Given the description of an element on the screen output the (x, y) to click on. 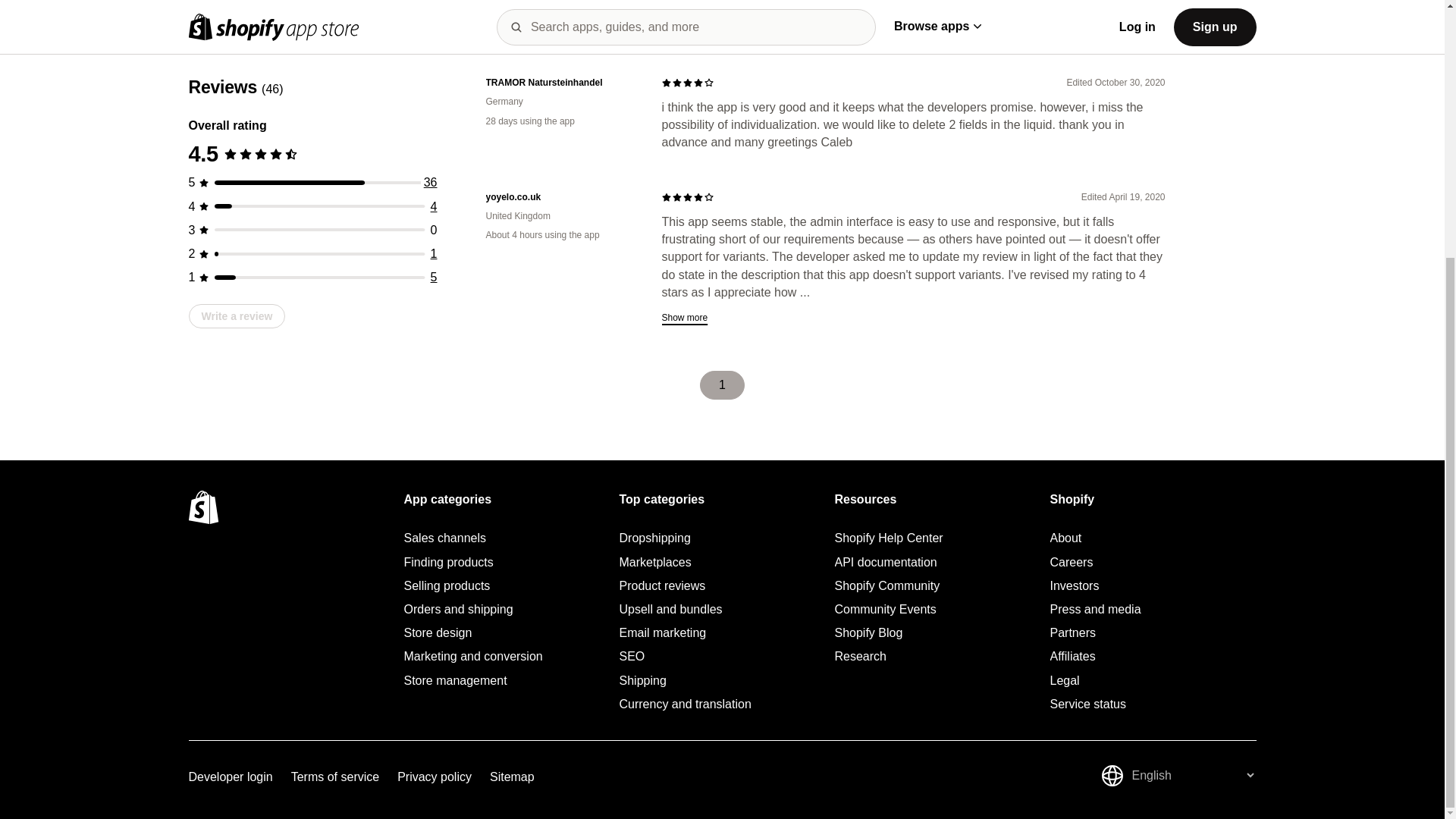
Write a review (236, 49)
TRAMOR Natursteinhandel (560, 82)
yoyelo.co.uk (560, 196)
